Given the description of an element on the screen output the (x, y) to click on. 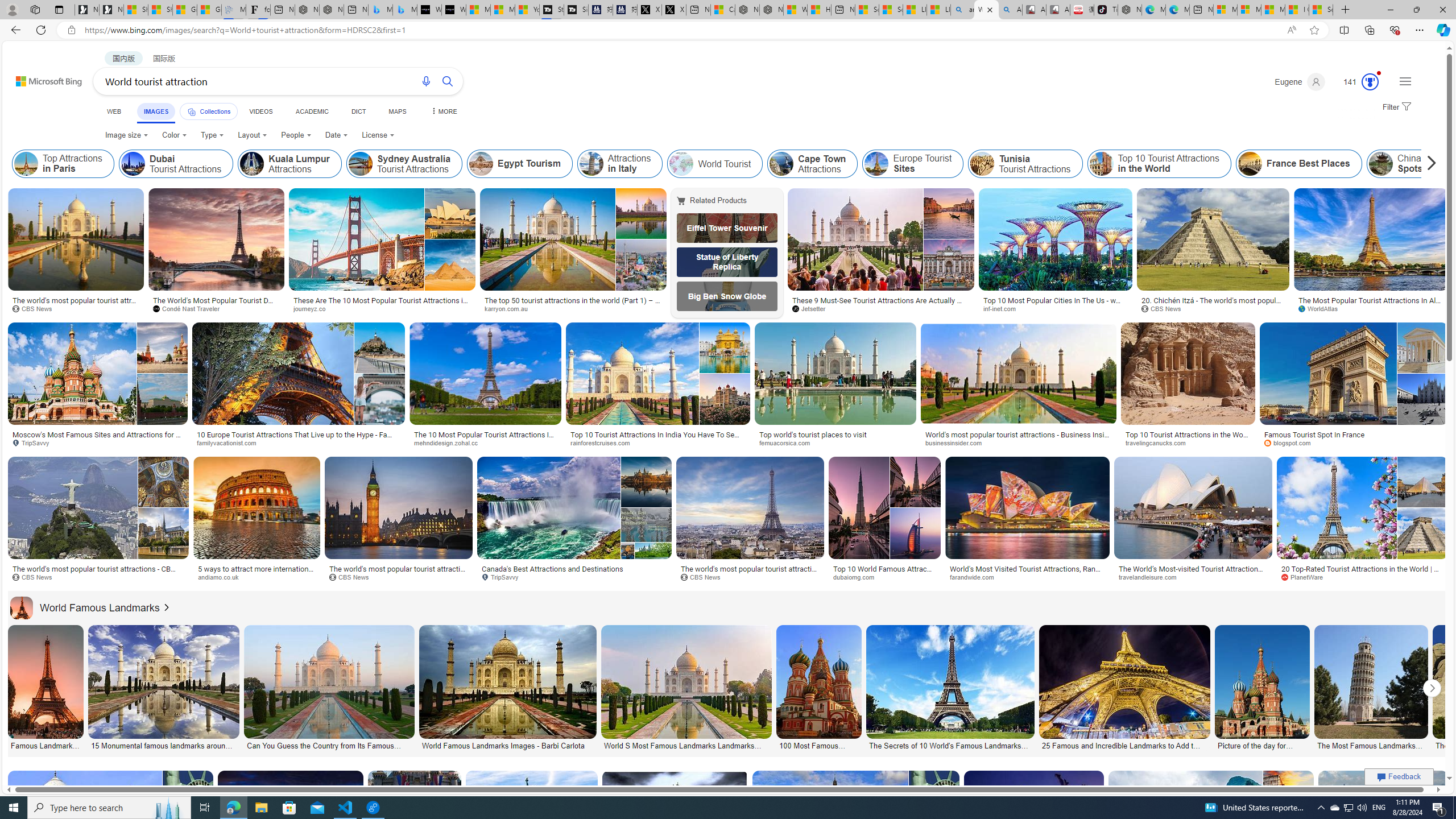
Canada's Best Attractions and Destinations (552, 568)
Top Attractions in Paris (25, 163)
CBS News (750, 576)
License (378, 135)
Attractions in Italy (619, 163)
France Best Places (1298, 163)
World Tourist (681, 163)
mehndidesign.zohal.cc (449, 442)
Egypt Tourism (519, 163)
